Given the description of an element on the screen output the (x, y) to click on. 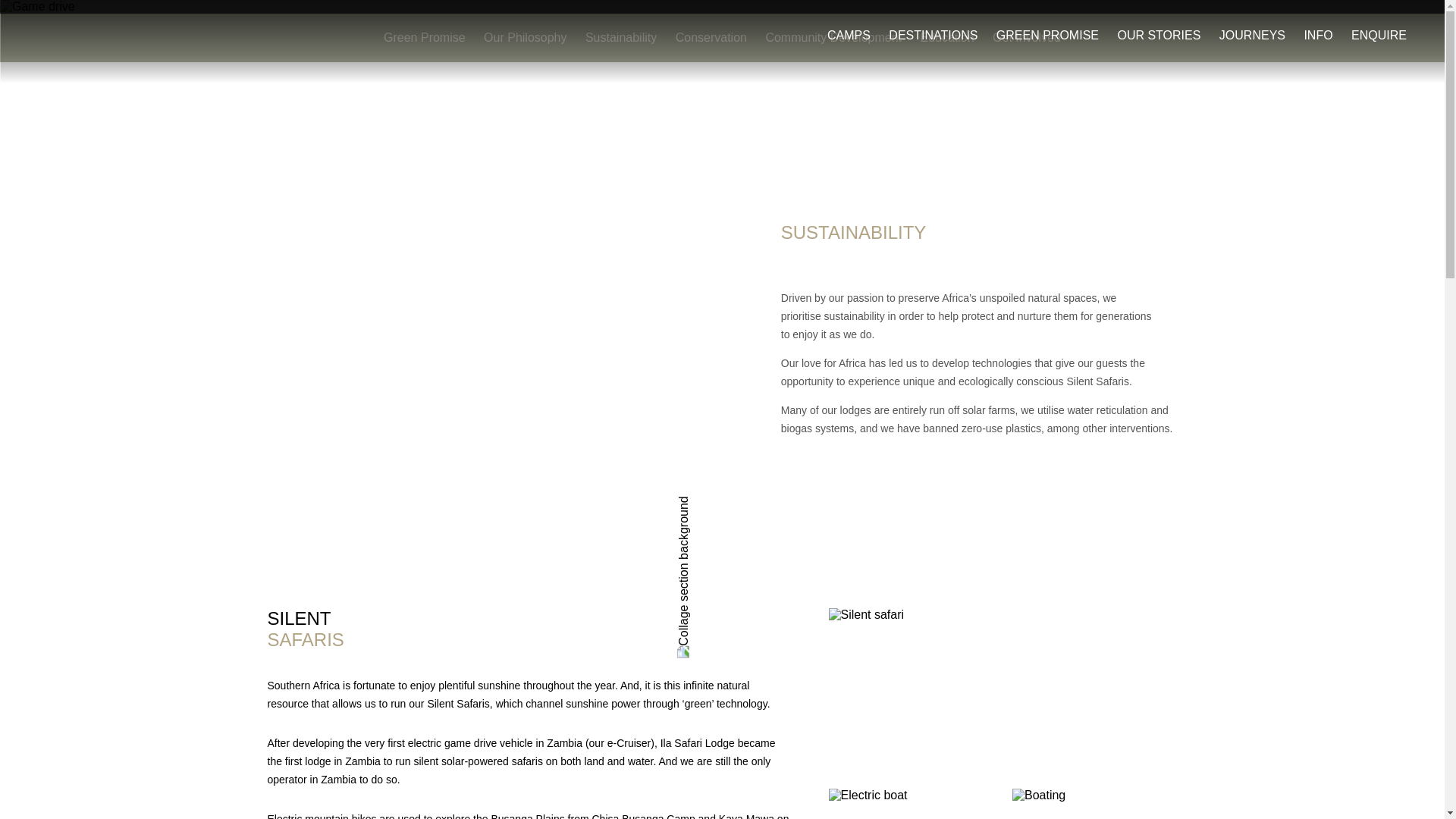
OUR STORIES (1157, 34)
CAMPS (848, 34)
SUSTAINABILITY INITIATIVES (98, 41)
GREEN PROMISE (1047, 34)
JOURNEYS (1252, 34)
DESTINATIONS (932, 34)
Green Safaris (98, 41)
